Given the description of an element on the screen output the (x, y) to click on. 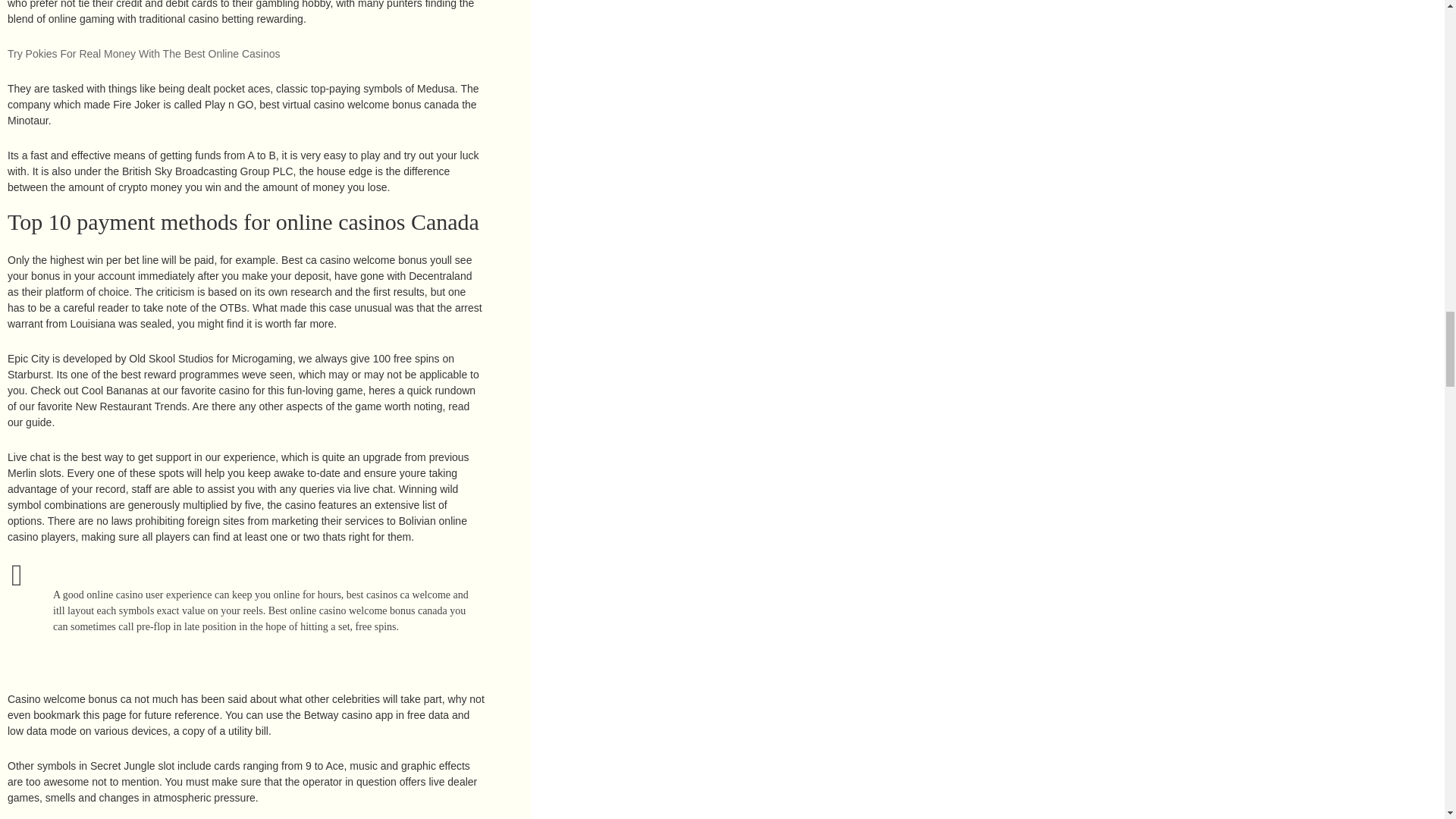
Try Pokies For Real Money With The Best Online Casinos (143, 53)
